Given the description of an element on the screen output the (x, y) to click on. 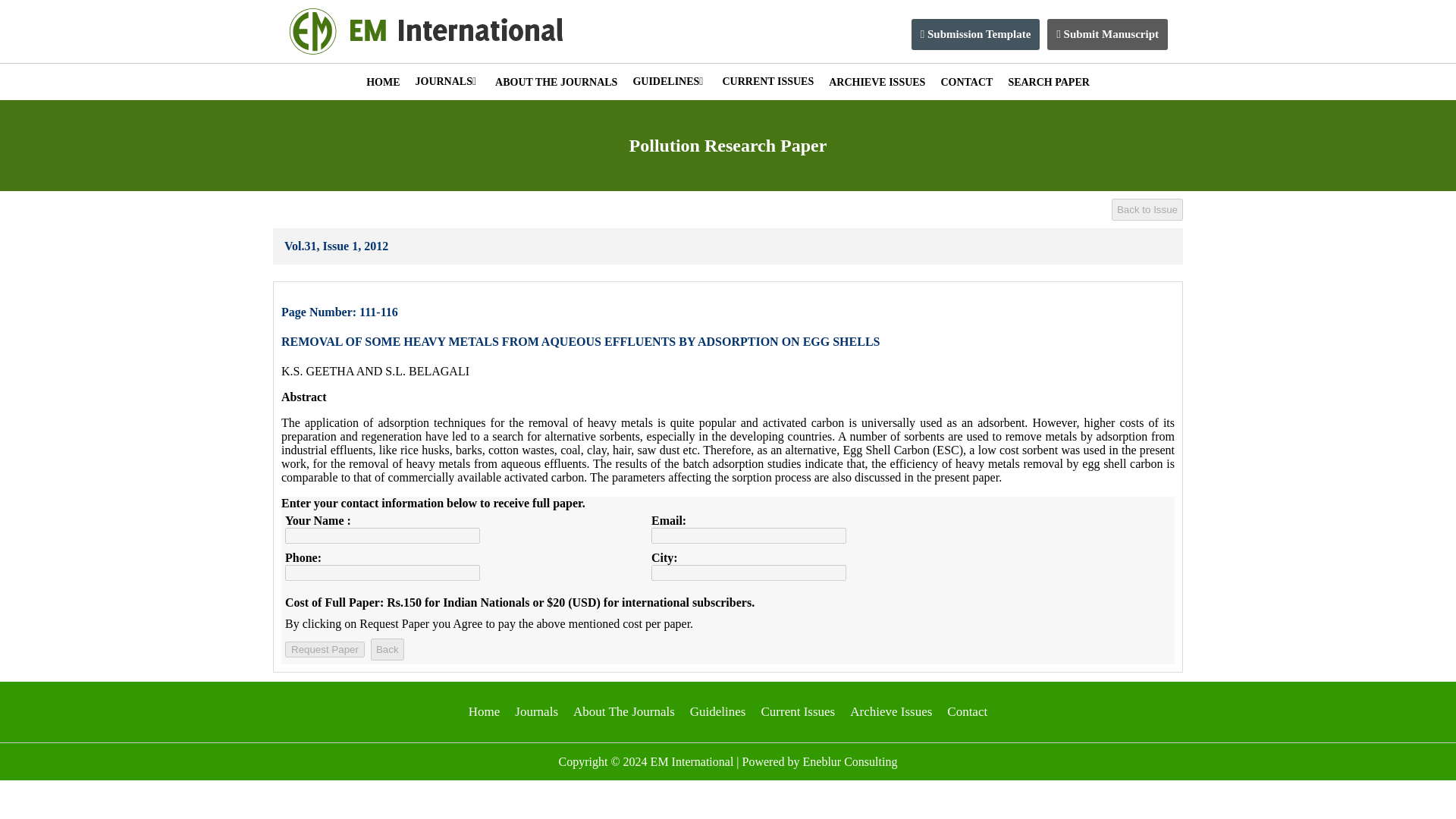
ABOUT THE JOURNALS (556, 81)
Archieve Issues (890, 711)
CONTACT (966, 81)
GUIDELINES (668, 81)
About The Journals (624, 711)
SEARCH PAPER (1048, 81)
Contact (967, 711)
Journals (536, 711)
Request Paper (325, 649)
Home (484, 711)
